Given the description of an element on the screen output the (x, y) to click on. 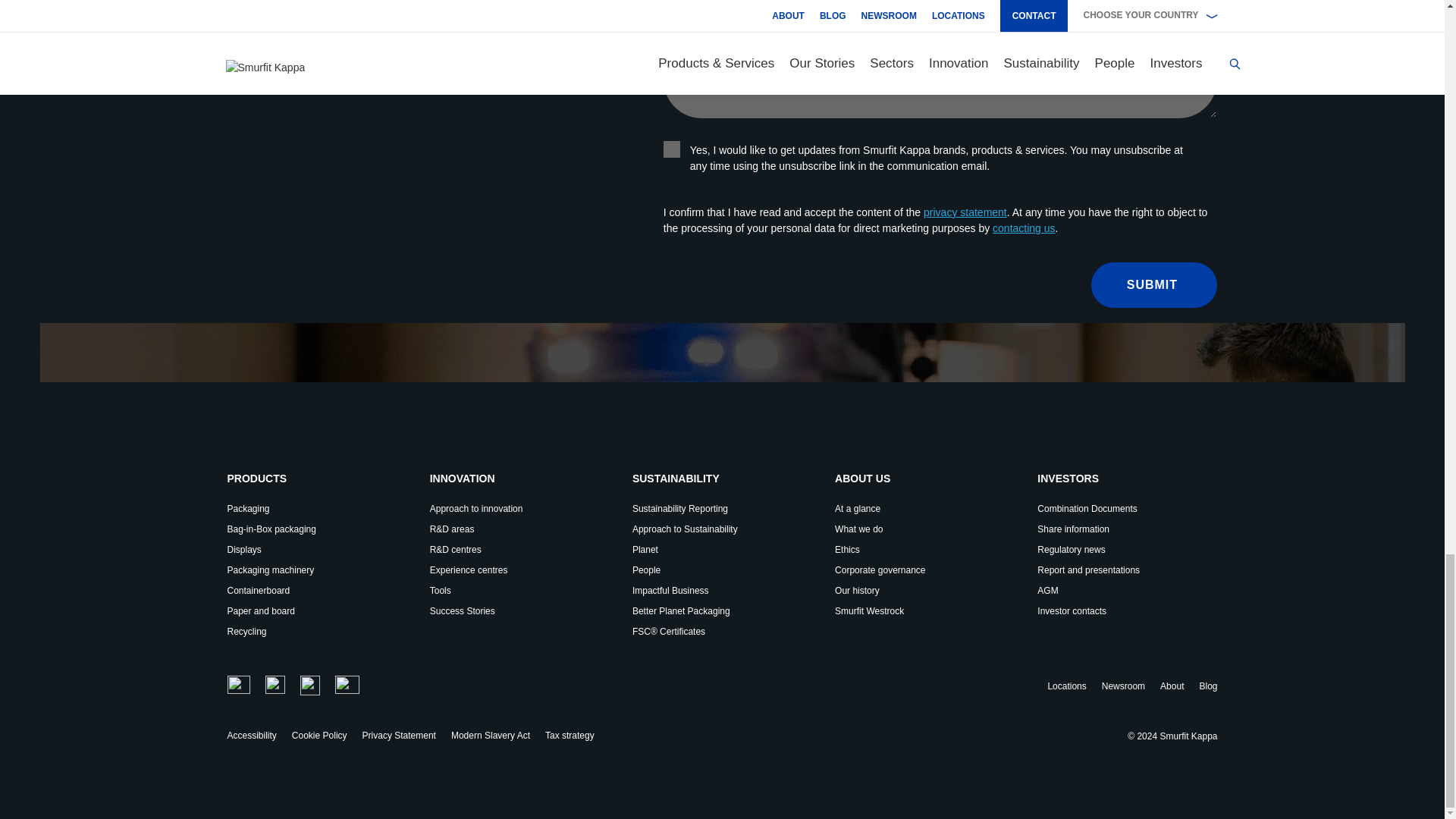
Facebook (309, 685)
YouTube (346, 684)
true (671, 149)
LinkedIn (274, 684)
Submit  (1153, 284)
